Given the description of an element on the screen output the (x, y) to click on. 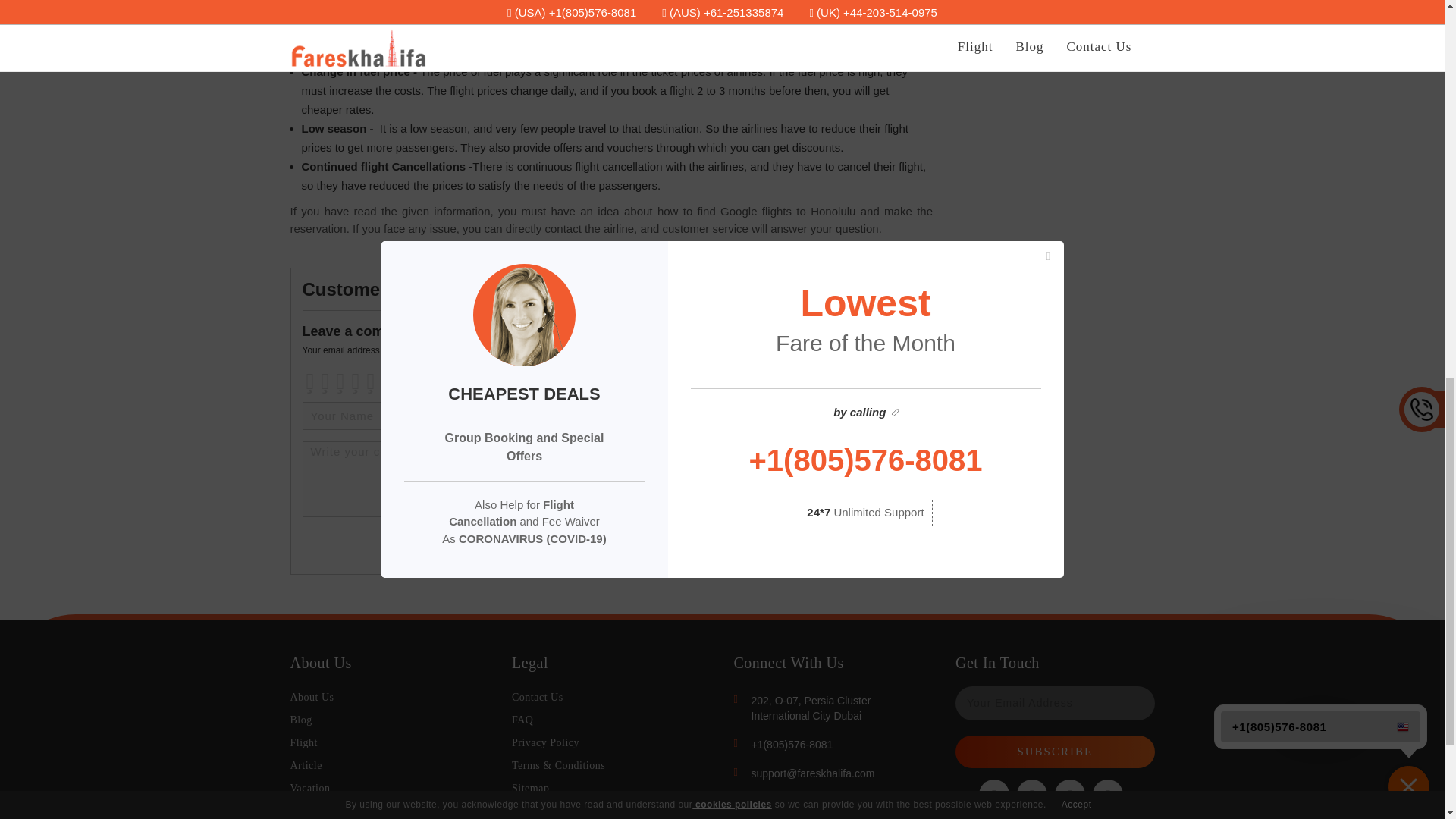
About Us (311, 696)
Subscribe (1054, 751)
Blog (300, 719)
Article (305, 765)
Vacation (309, 787)
Flight (303, 742)
Submit (883, 545)
